Given the description of an element on the screen output the (x, y) to click on. 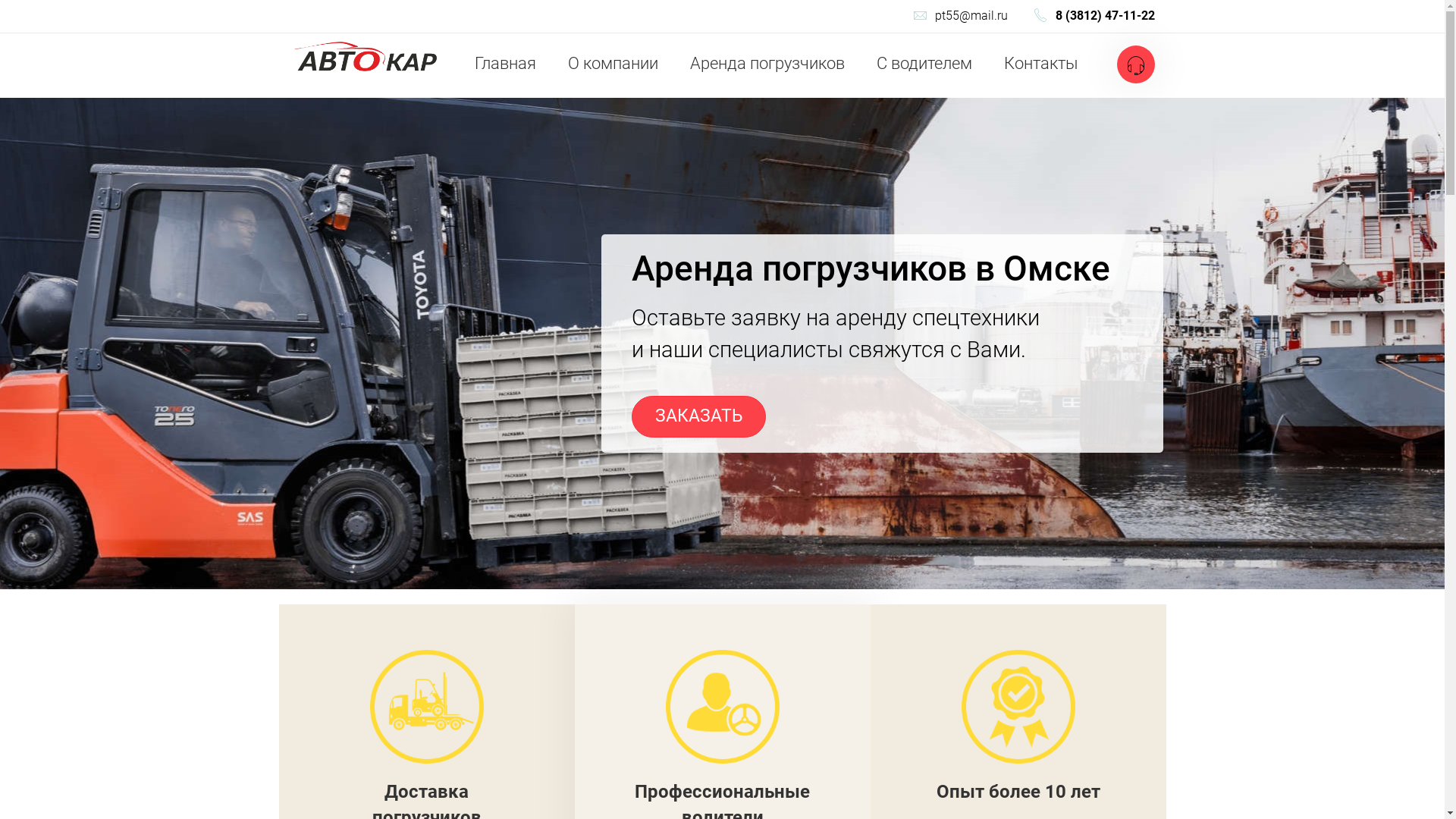
8 (3812) 47-11-22 Element type: text (1093, 16)
pt55@mail.ru Element type: text (959, 16)
